Given the description of an element on the screen output the (x, y) to click on. 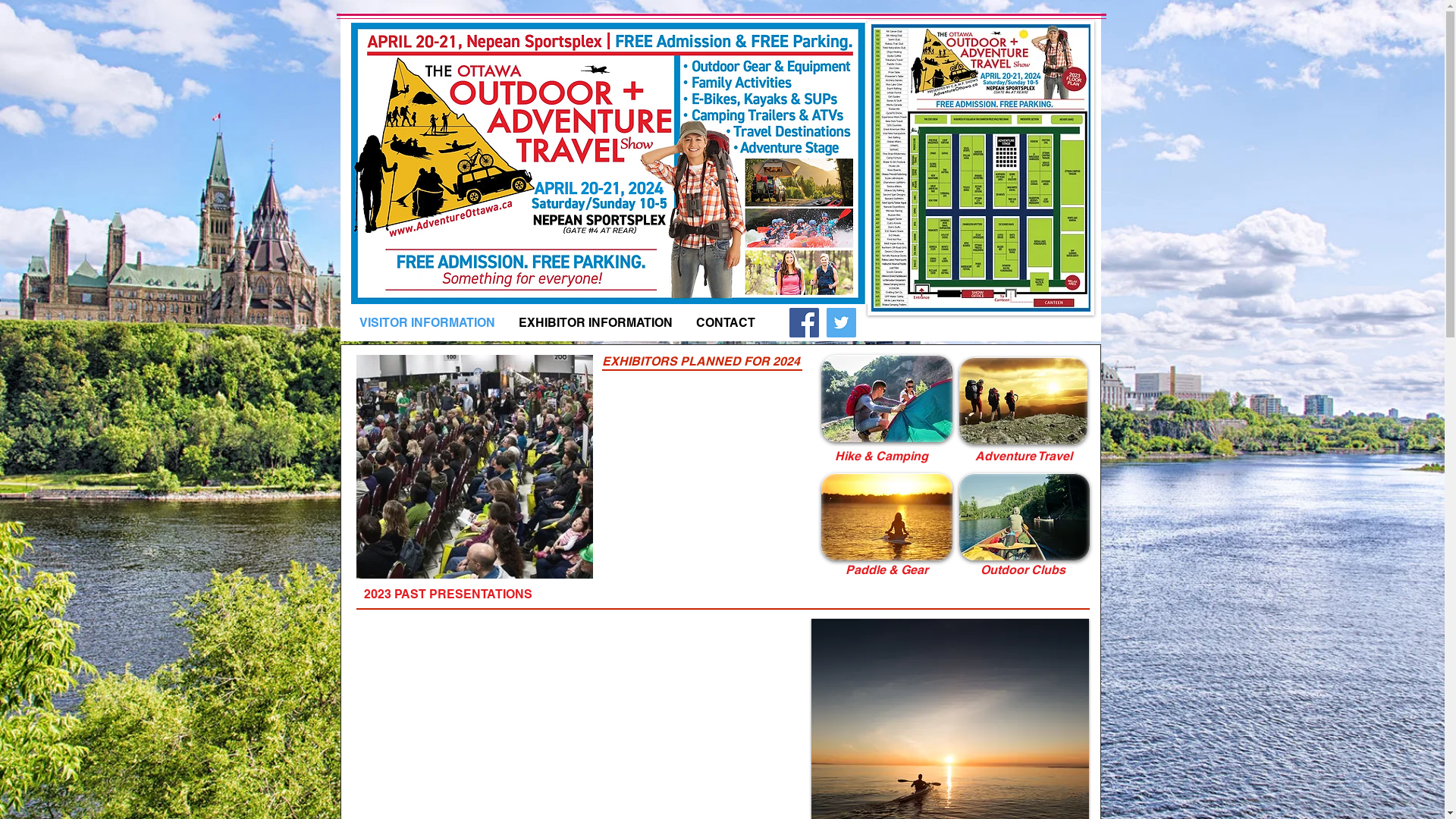
VISITOR INFORMATION Element type: text (427, 322)
EXHIBITOR INFORMATION Element type: text (595, 322)
CONTACT Element type: text (725, 322)
walllpaper3a.jpg Element type: hover (1022, 400)
supyoga.jpg Element type: hover (885, 516)
hikecampingimage.jpg Element type: hover (885, 398)
